Given the description of an element on the screen output the (x, y) to click on. 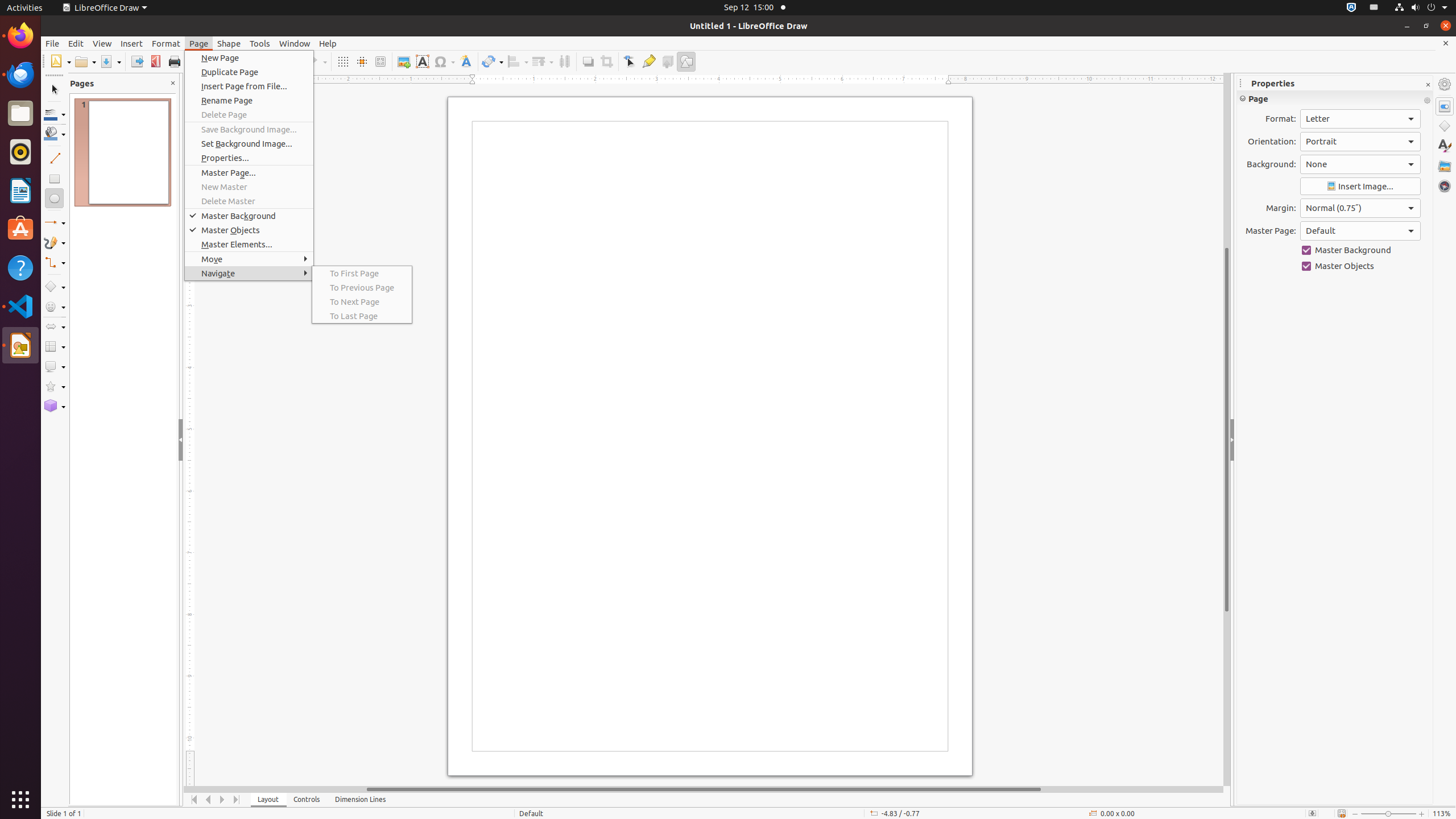
Window Element type: menu (294, 43)
Background: Element type: combo-box (1360, 164)
Select Element type: push-button (53, 89)
View Element type: menu (102, 43)
Save Element type: push-button (109, 61)
